Given the description of an element on the screen output the (x, y) to click on. 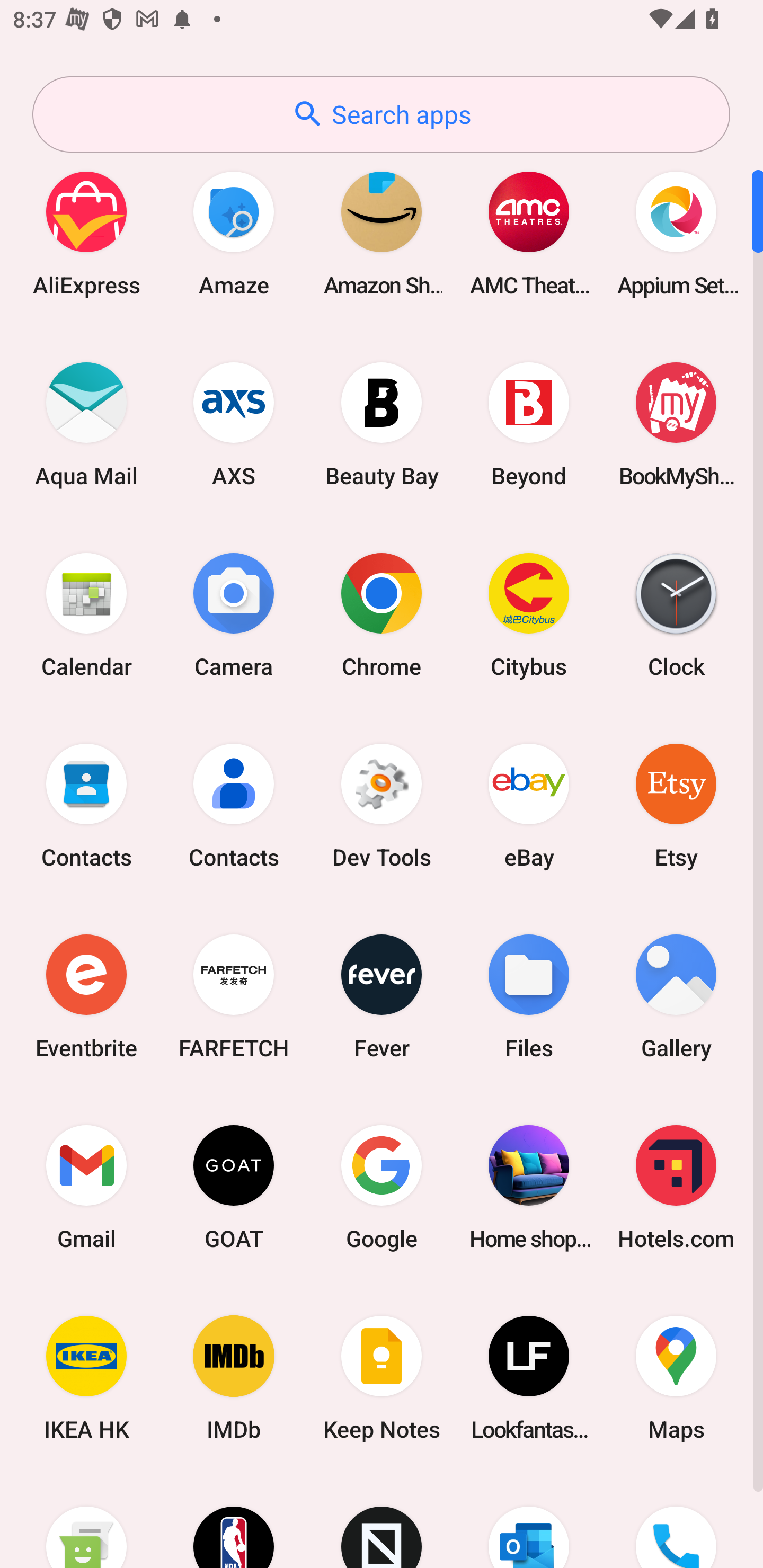
  Search apps (381, 114)
AliExpress (86, 233)
Amaze (233, 233)
Amazon Shopping (381, 233)
AMC Theatres (528, 233)
Appium Settings (676, 233)
Aqua Mail (86, 424)
AXS (233, 424)
Beauty Bay (381, 424)
Beyond (528, 424)
BookMyShow (676, 424)
Calendar (86, 614)
Camera (233, 614)
Chrome (381, 614)
Citybus (528, 614)
Clock (676, 614)
Contacts (86, 805)
Contacts (233, 805)
Dev Tools (381, 805)
eBay (528, 805)
Etsy (676, 805)
Eventbrite (86, 996)
FARFETCH (233, 996)
Fever (381, 996)
Files (528, 996)
Gallery (676, 996)
Gmail (86, 1186)
GOAT (233, 1186)
Google (381, 1186)
Home shopping (528, 1186)
Hotels.com (676, 1186)
IKEA HK (86, 1377)
IMDb (233, 1377)
Keep Notes (381, 1377)
Lookfantastic (528, 1377)
Maps (676, 1377)
